Given the description of an element on the screen output the (x, y) to click on. 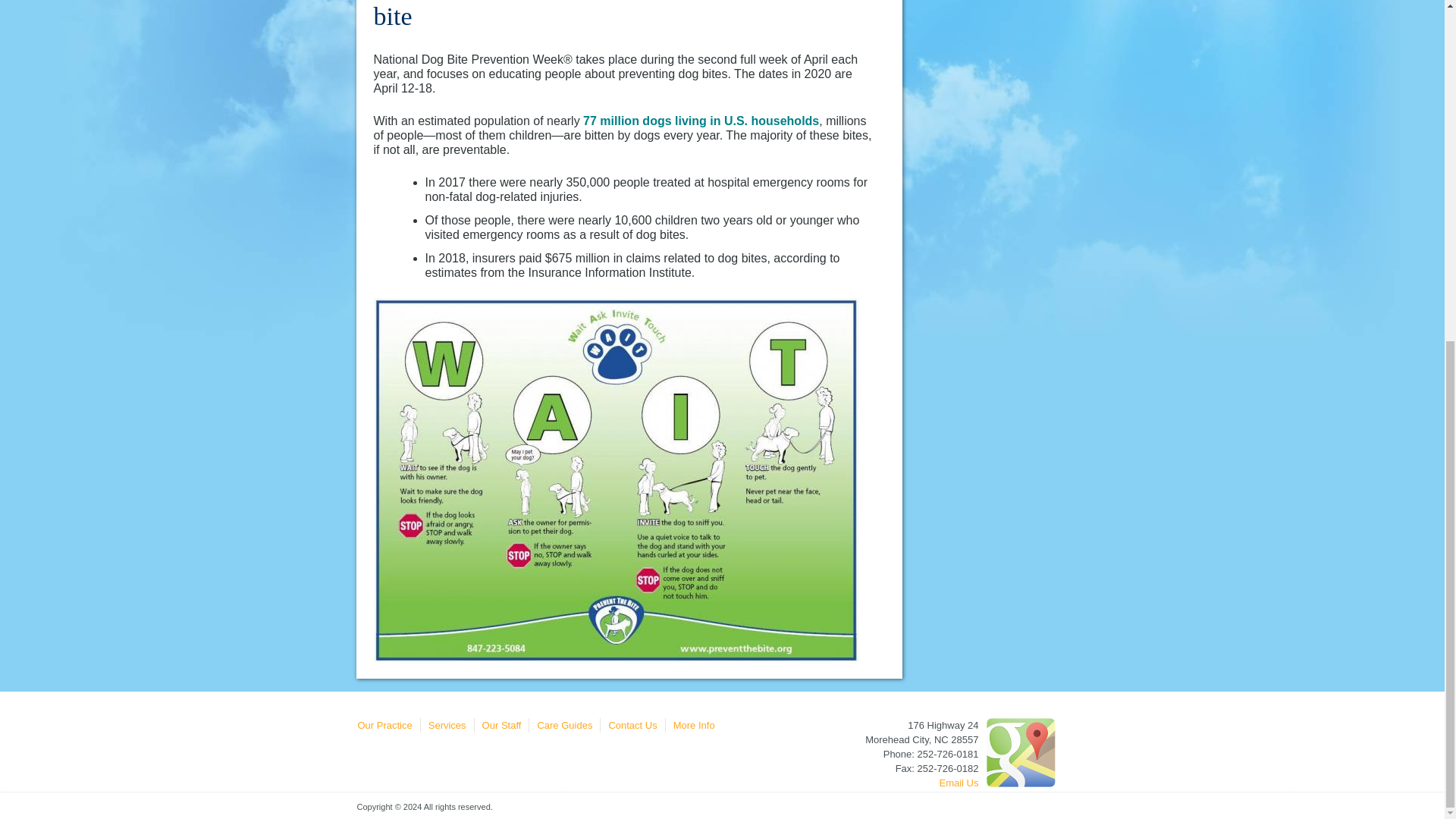
77 million dogs living in U.S. households (700, 120)
Care Guides (564, 725)
Our Staff (501, 725)
Services (446, 725)
More Info (693, 725)
Email Us (958, 782)
Our Practice (385, 725)
Contact Us (632, 725)
